Given the description of an element on the screen output the (x, y) to click on. 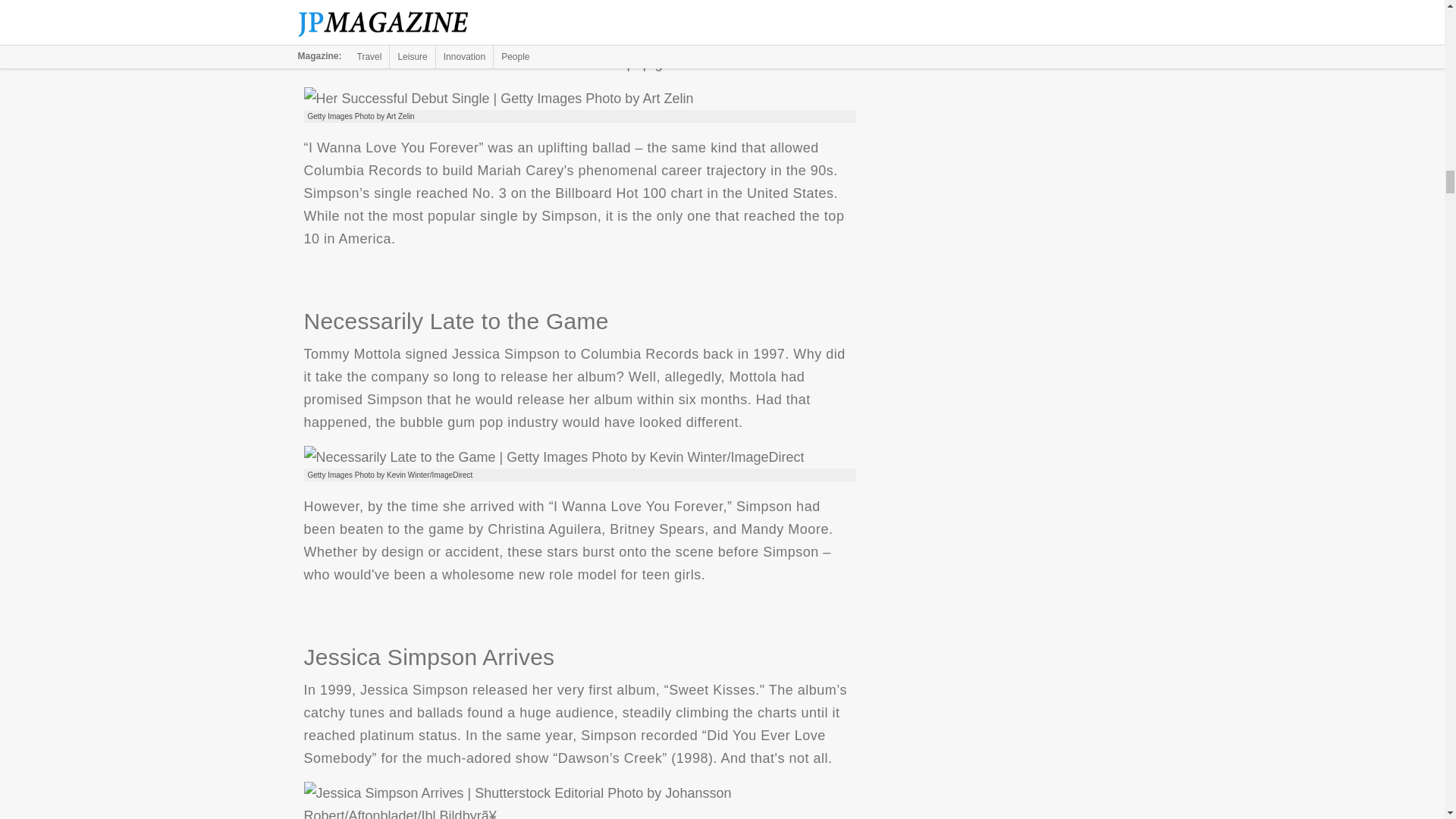
Her Successful Debut Single (497, 97)
Necessarily Late to the Game (552, 456)
Jessica Simpson Arrives (579, 800)
